Given the description of an element on the screen output the (x, y) to click on. 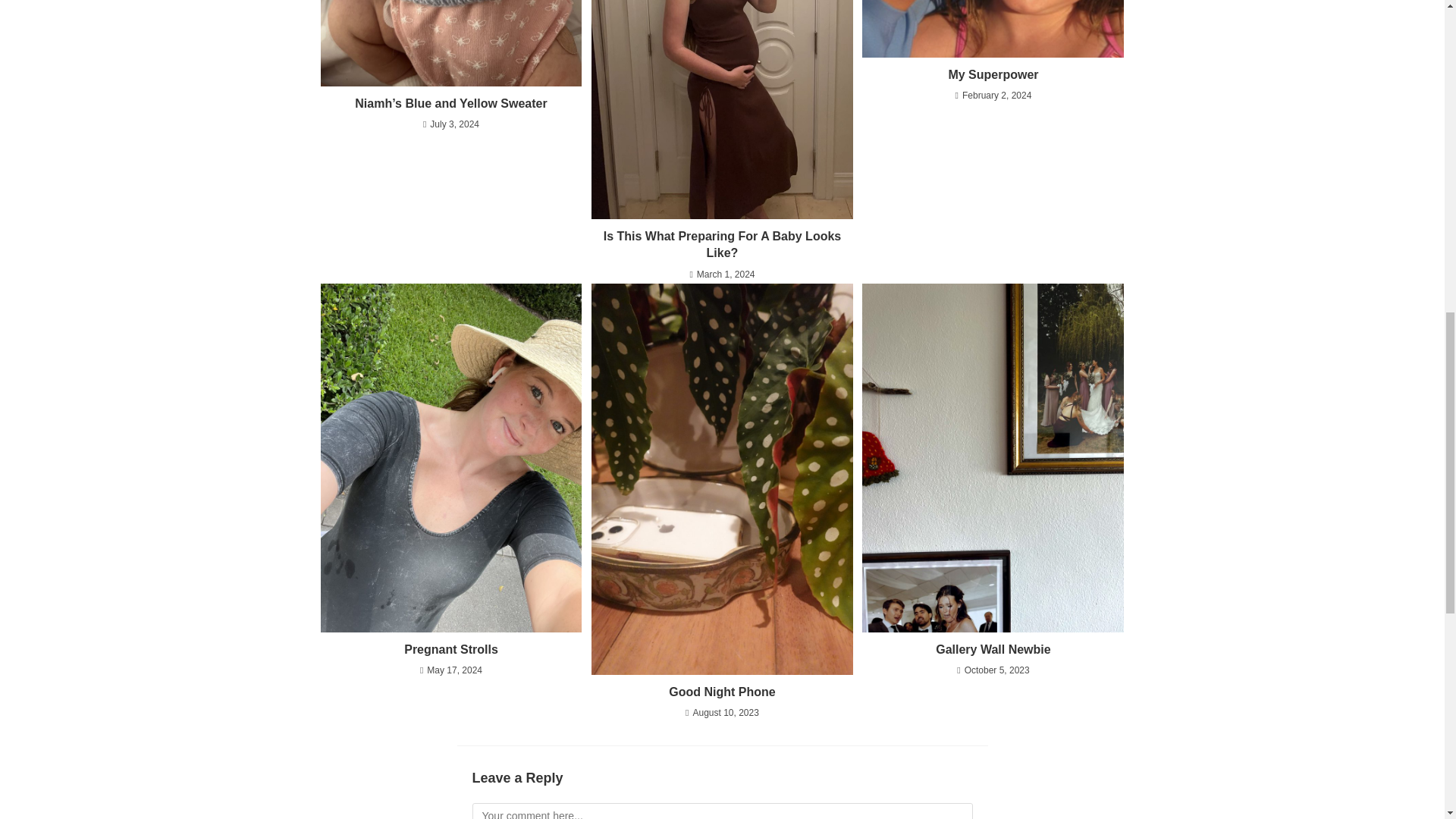
Good Night Phone (721, 692)
Pregnant Strolls (450, 649)
Gallery Wall Newbie (992, 649)
My Superpower (992, 74)
Is This What Preparing For A Baby Looks Like? (721, 245)
